Given the description of an element on the screen output the (x, y) to click on. 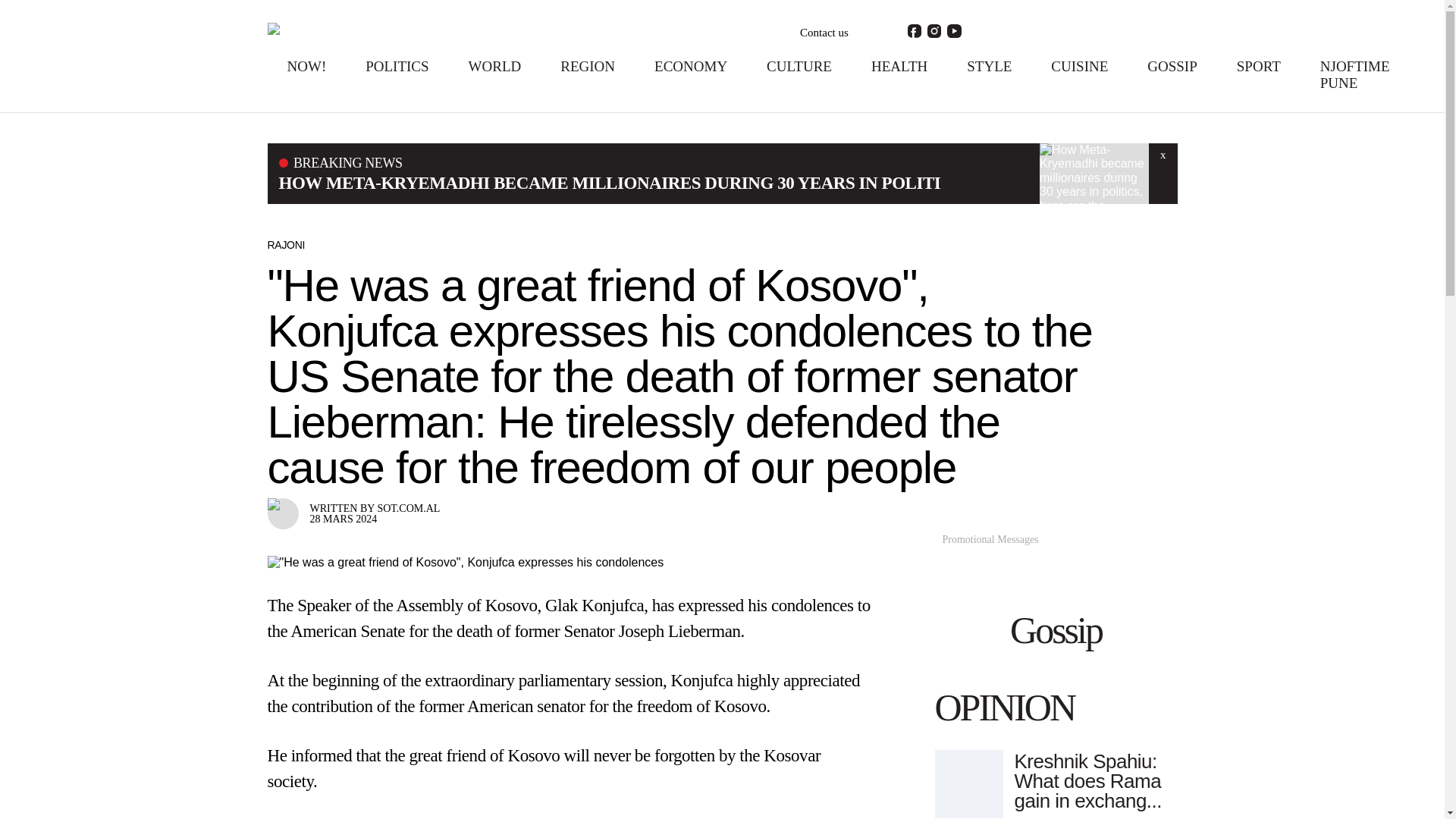
NJOFTIME PUNE (1355, 74)
ECONOMY (689, 66)
WORLD (494, 66)
HEALTH (898, 66)
SPORT (1258, 66)
CULTURE (799, 66)
GOSSIP (1171, 66)
NOW! (306, 66)
CUISINE (1079, 66)
RAJONI (285, 244)
Contact us (823, 32)
STYLE (988, 66)
REGION (587, 66)
POLITICS (396, 66)
